Given the description of an element on the screen output the (x, y) to click on. 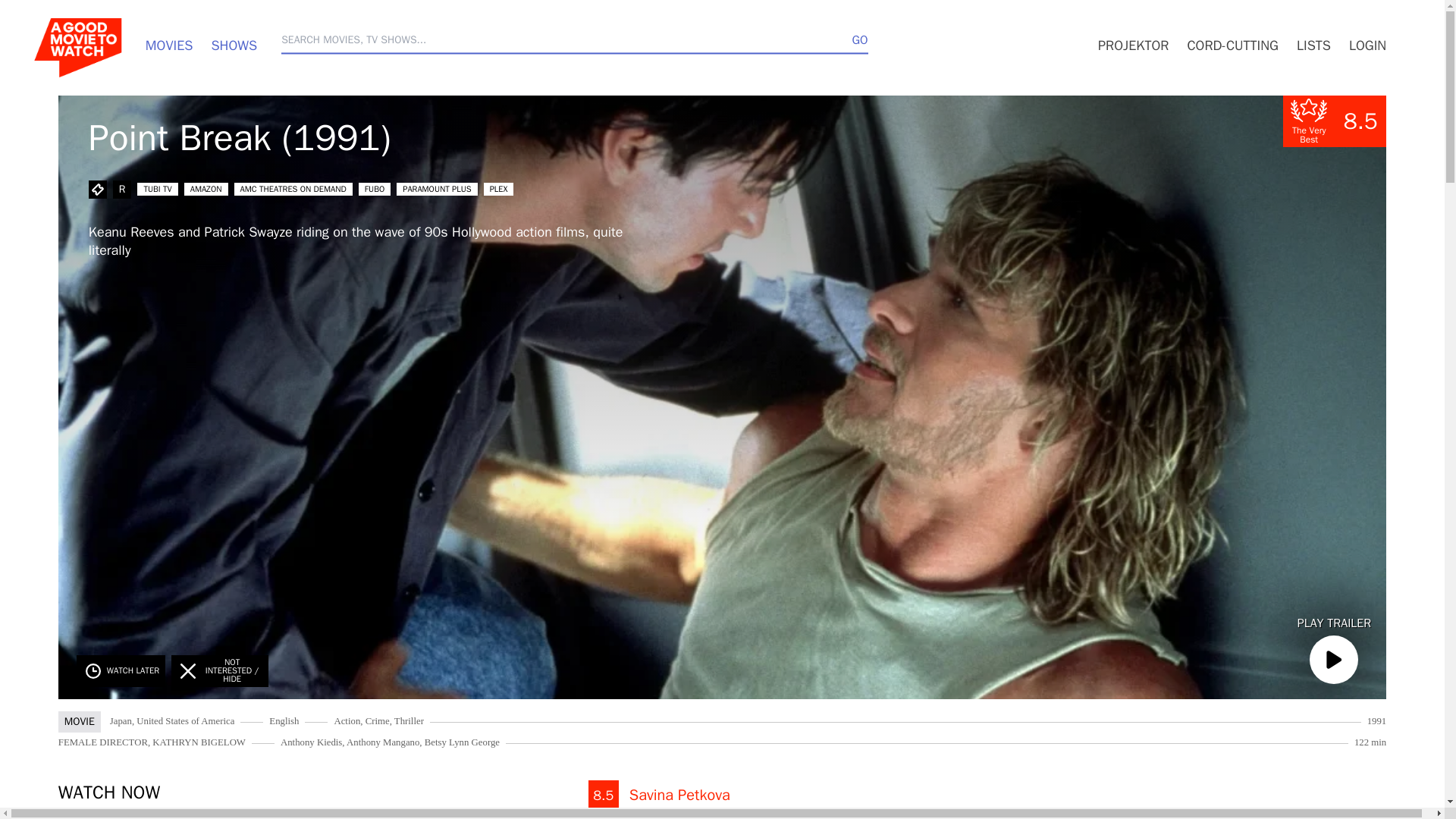
SHOWS (234, 45)
GO (860, 39)
PROJEKTOR (1133, 45)
CORD-CUTTING (1232, 45)
MOVIES (169, 45)
